Given the description of an element on the screen output the (x, y) to click on. 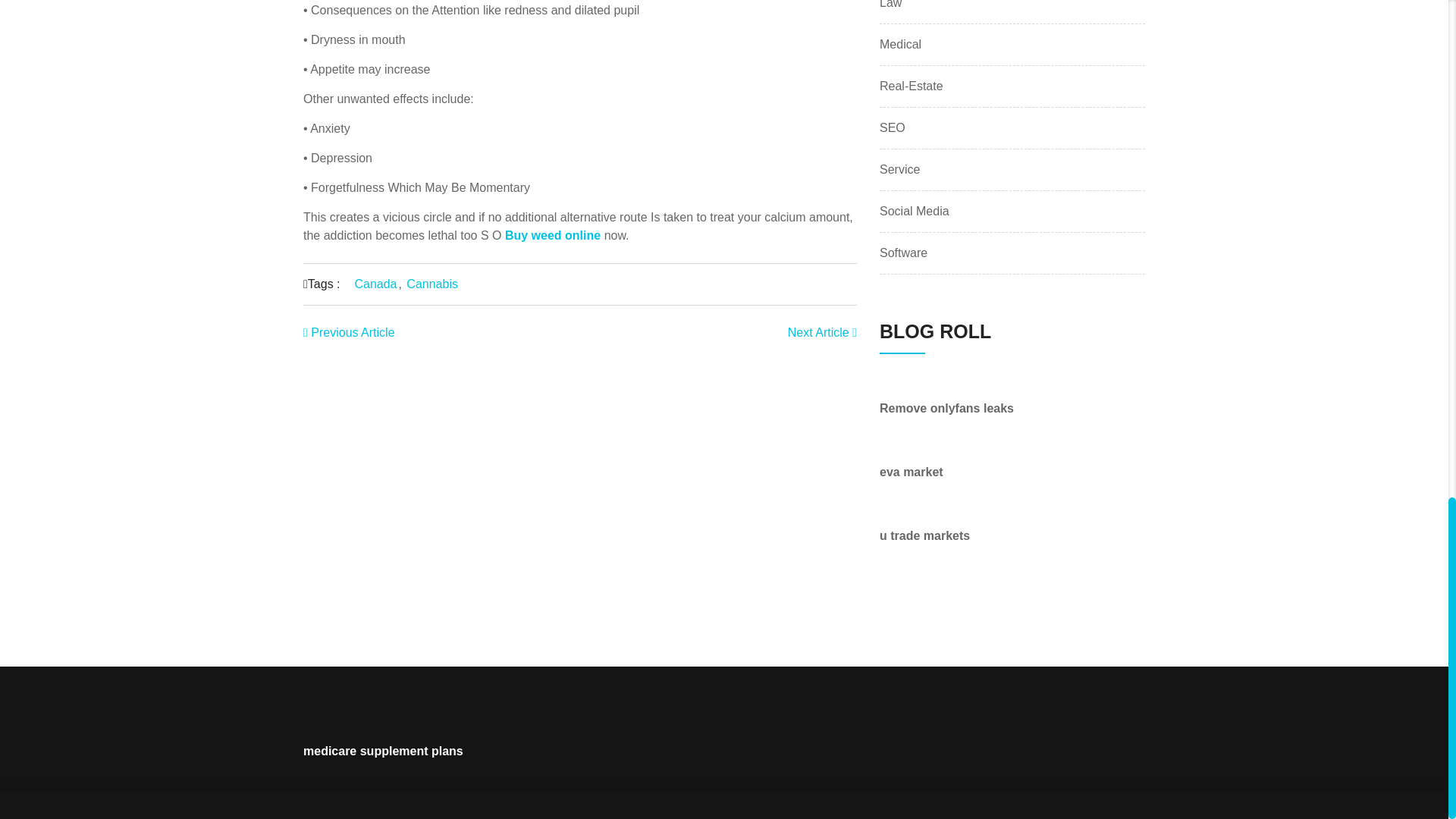
Software (903, 253)
Medical (900, 45)
Cannabis (432, 283)
u trade markets (924, 535)
Buy weed online (552, 235)
Canada (374, 283)
Remove onlyfans leaks (946, 408)
medicare supplement plans (382, 750)
Service (899, 169)
Law (890, 6)
